Given the description of an element on the screen output the (x, y) to click on. 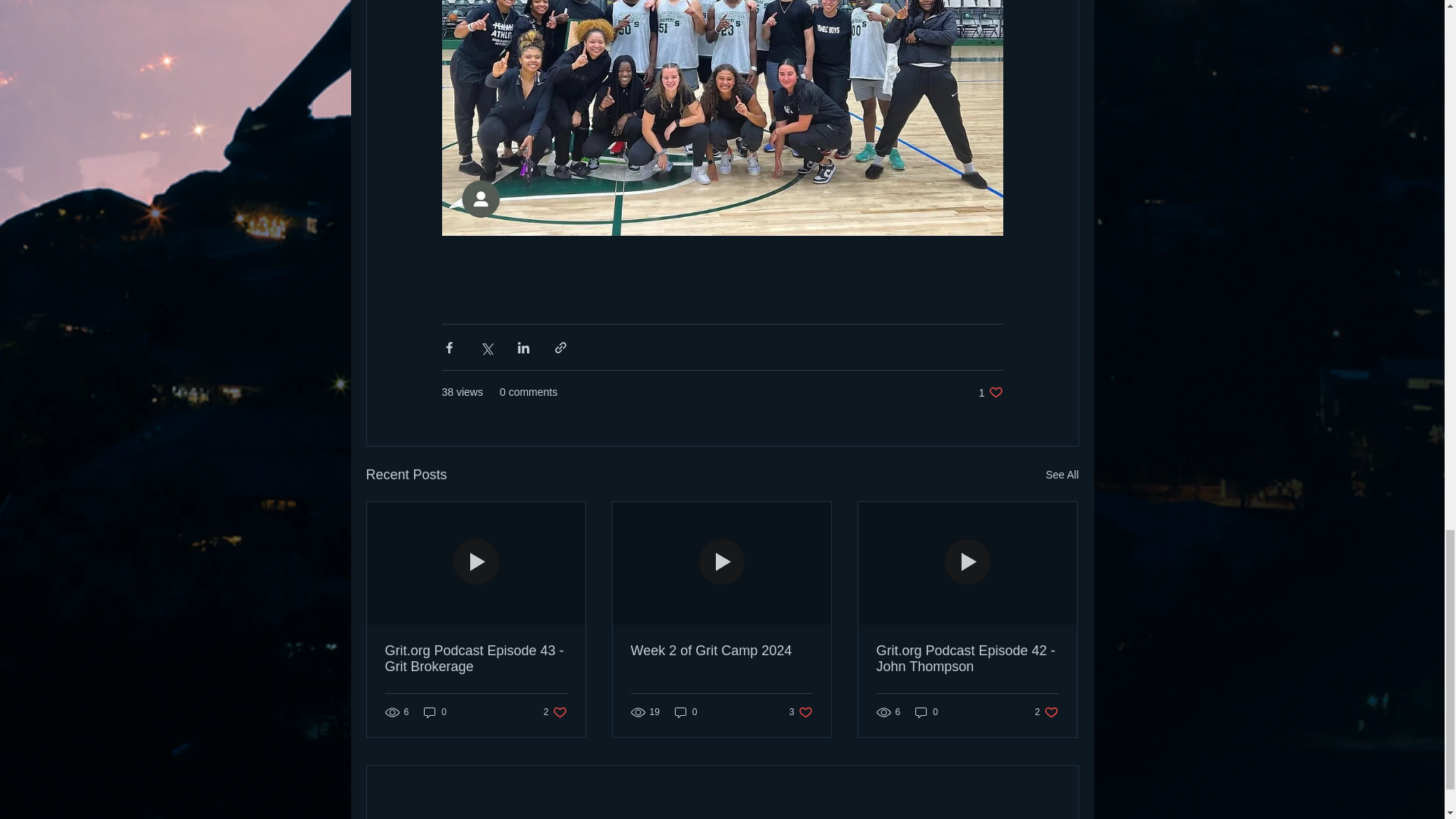
0 (990, 391)
0 (685, 712)
See All (435, 712)
Week 2 of Grit Camp 2024 (555, 712)
Grit.org Podcast Episode 43 - Grit Brokerage (1061, 475)
